Given the description of an element on the screen output the (x, y) to click on. 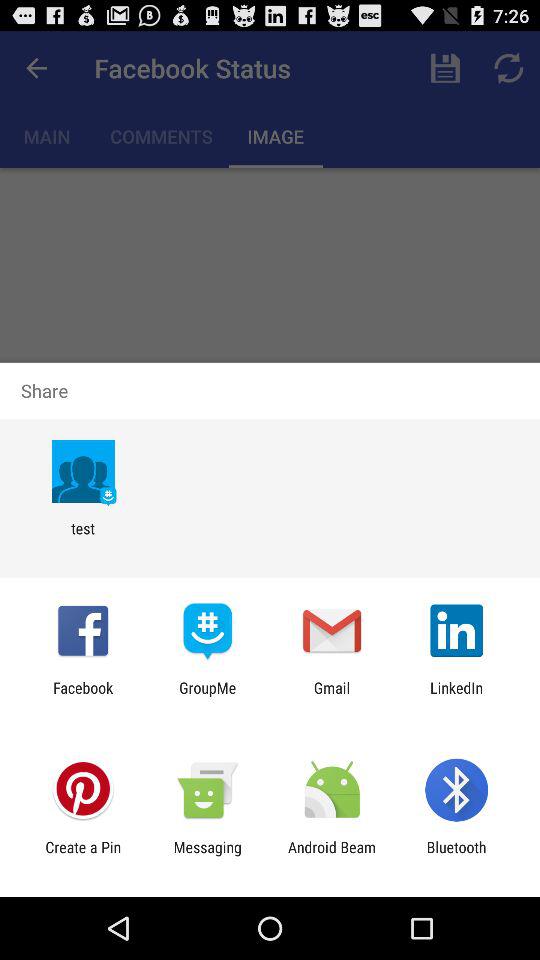
turn on facebook (83, 696)
